Given the description of an element on the screen output the (x, y) to click on. 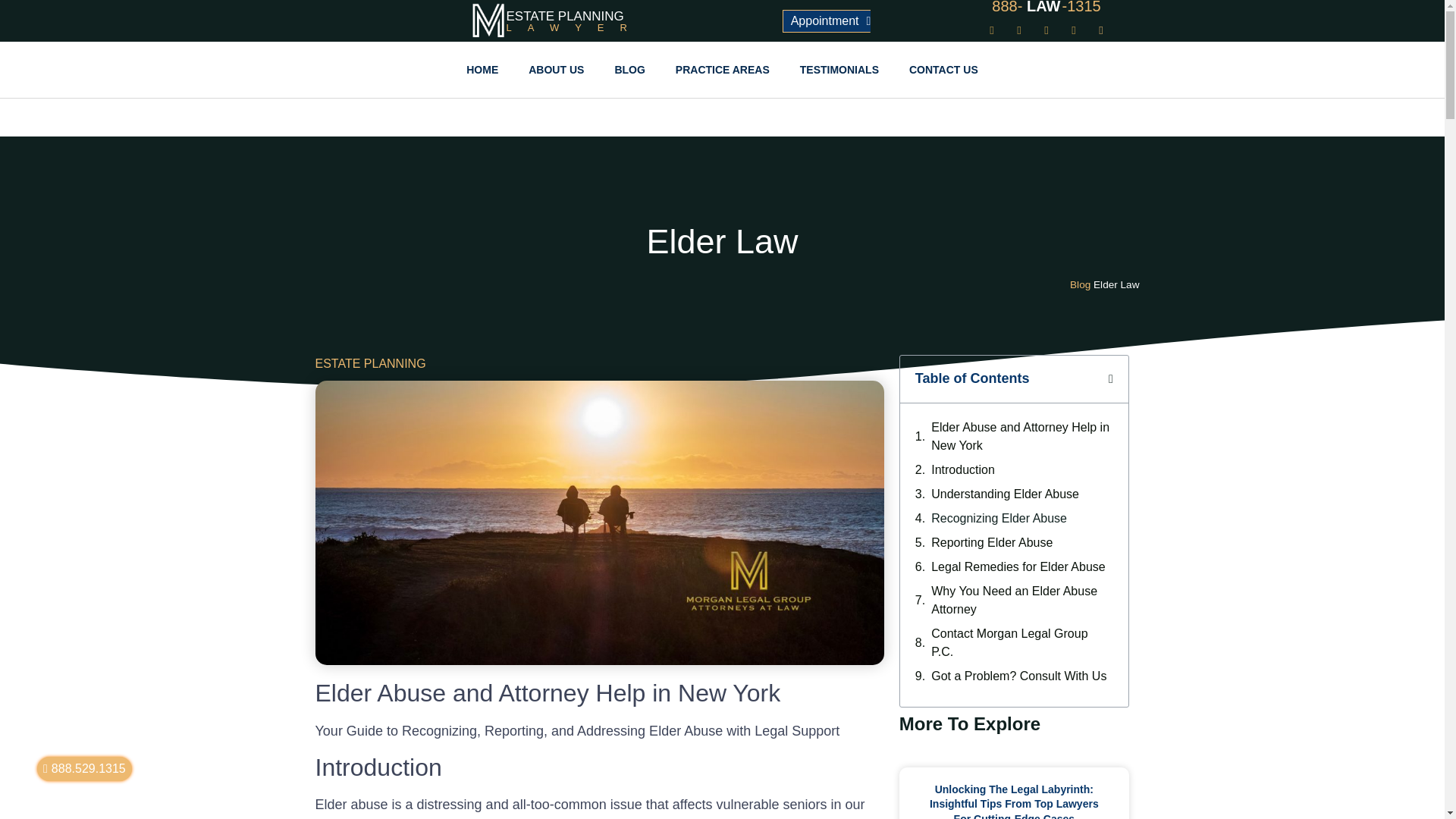
Elder Abuse and Attorney Help in New York (1022, 436)
Why You Need an Elder Abuse Attorney (1022, 600)
TESTIMONIALS (838, 69)
ABOUT US (555, 69)
Introduction (962, 470)
Understanding Elder Abuse (1004, 494)
CONTACT US (942, 69)
HOME (482, 69)
ESTATE PLANNING (565, 16)
BLOG (628, 69)
Appointment (826, 37)
Reporting Elder Abuse (991, 542)
ESTATE PLANNING (370, 363)
Legal Remedies for Elder Abuse (1018, 566)
